Given the description of an element on the screen output the (x, y) to click on. 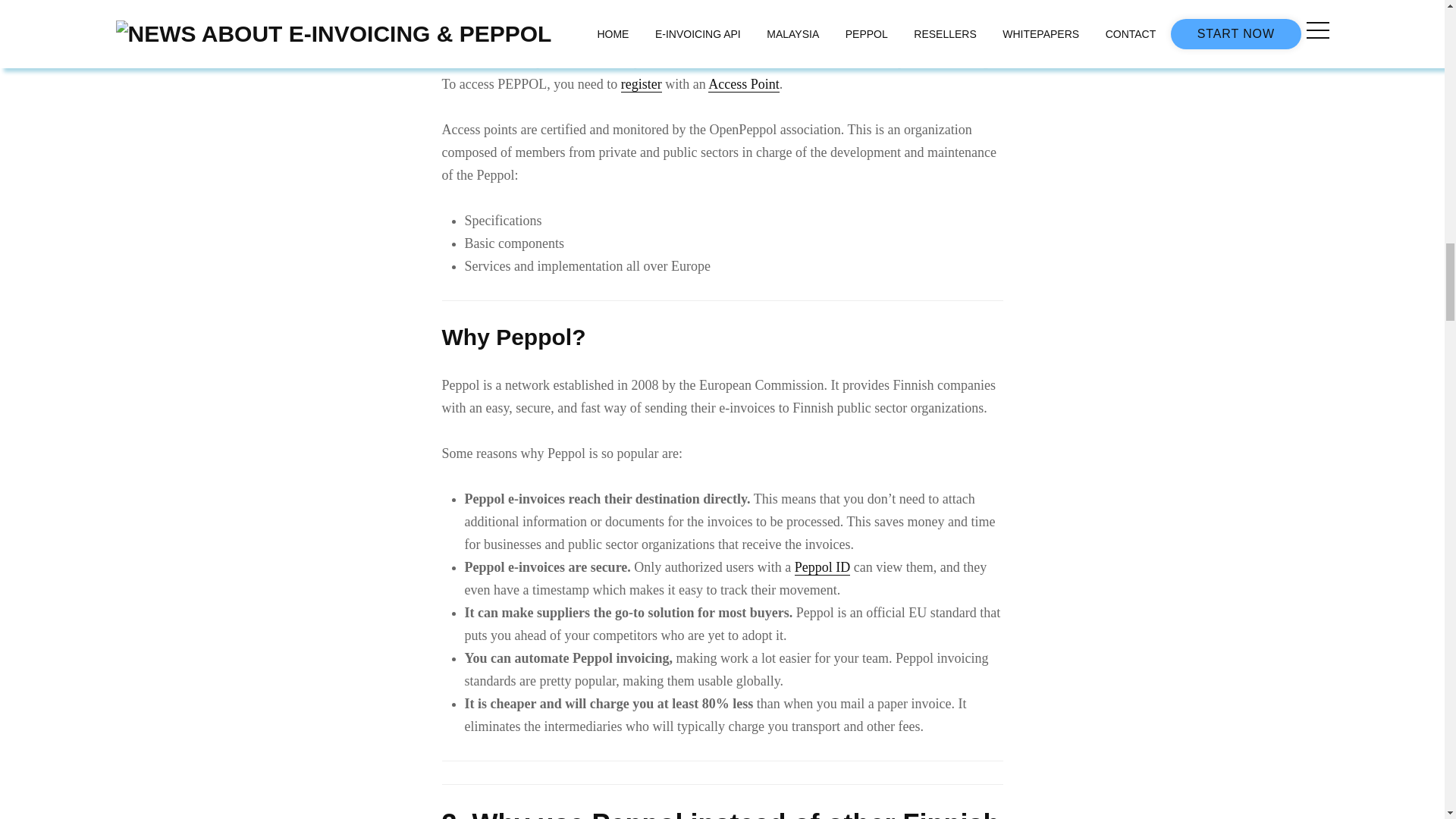
Access Point (742, 84)
register (641, 84)
Peppol ID (822, 567)
PEPPOL (465, 38)
